Given the description of an element on the screen output the (x, y) to click on. 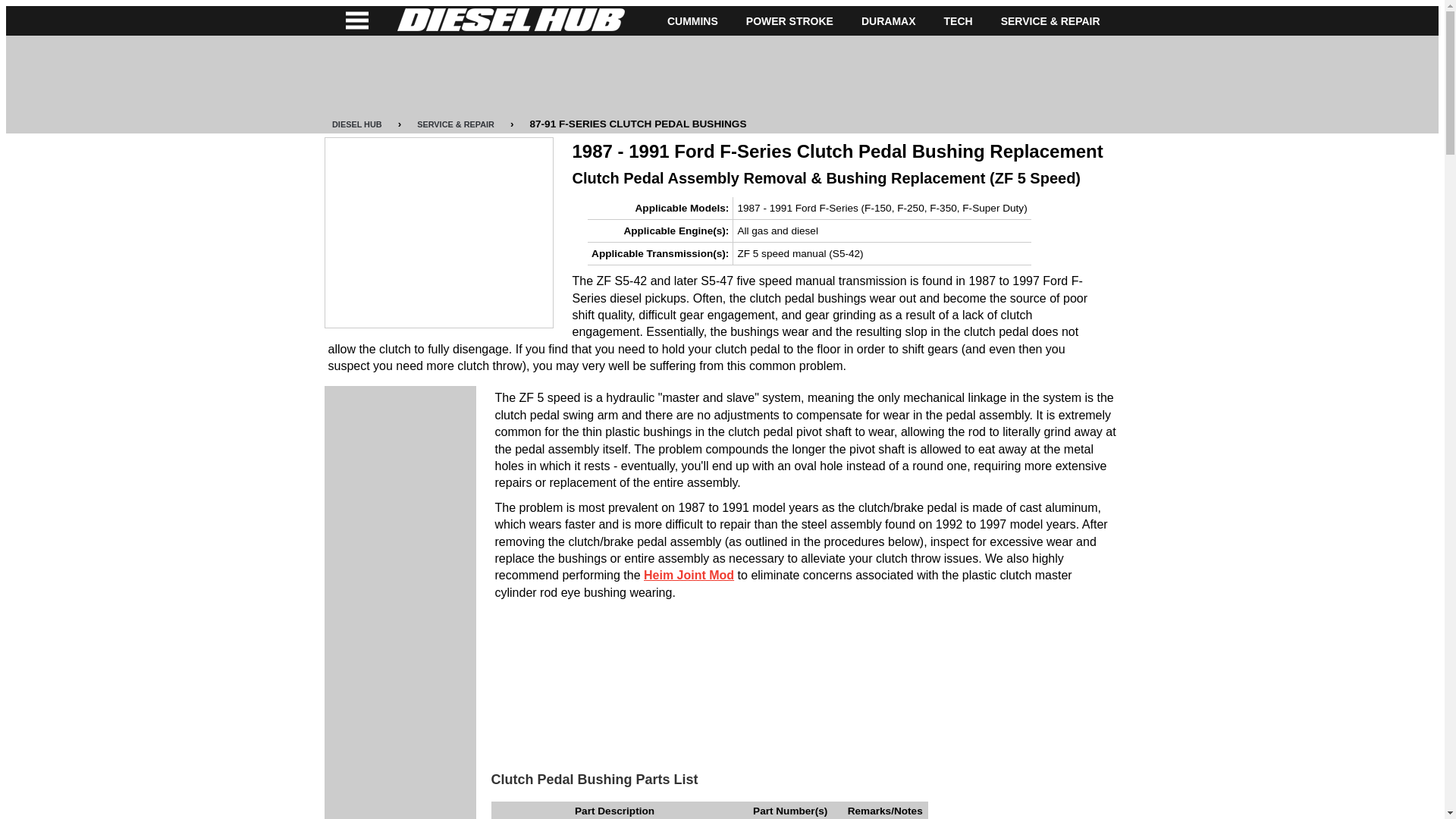
DIESEL HUB (356, 123)
TECH (957, 21)
CUMMINS (691, 21)
DURAMAX (888, 21)
Heim Joint Mod (688, 574)
POWER STROKE (788, 21)
